Given the description of an element on the screen output the (x, y) to click on. 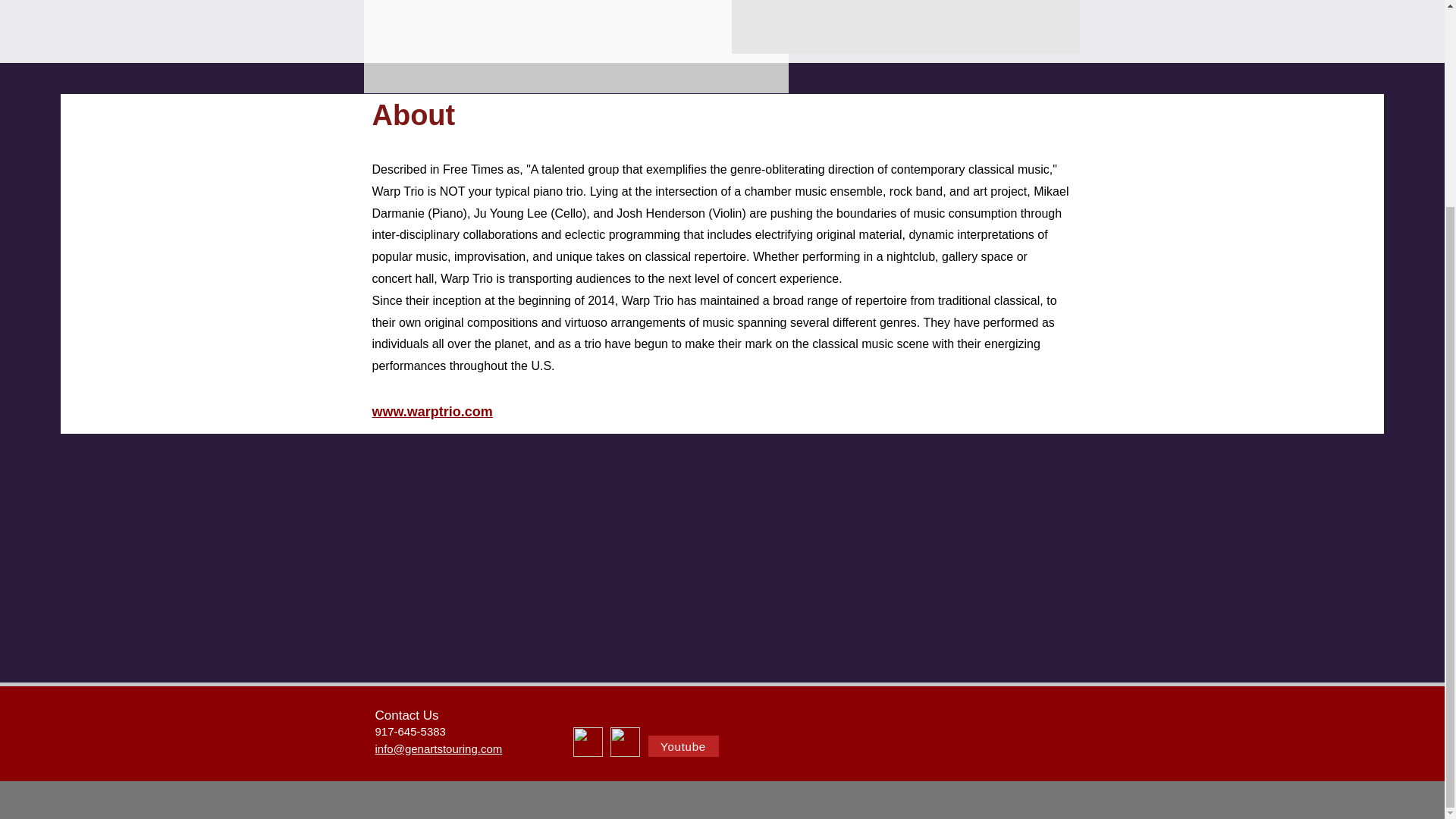
www.warptrio.com (431, 411)
Youtube (682, 745)
